Given the description of an element on the screen output the (x, y) to click on. 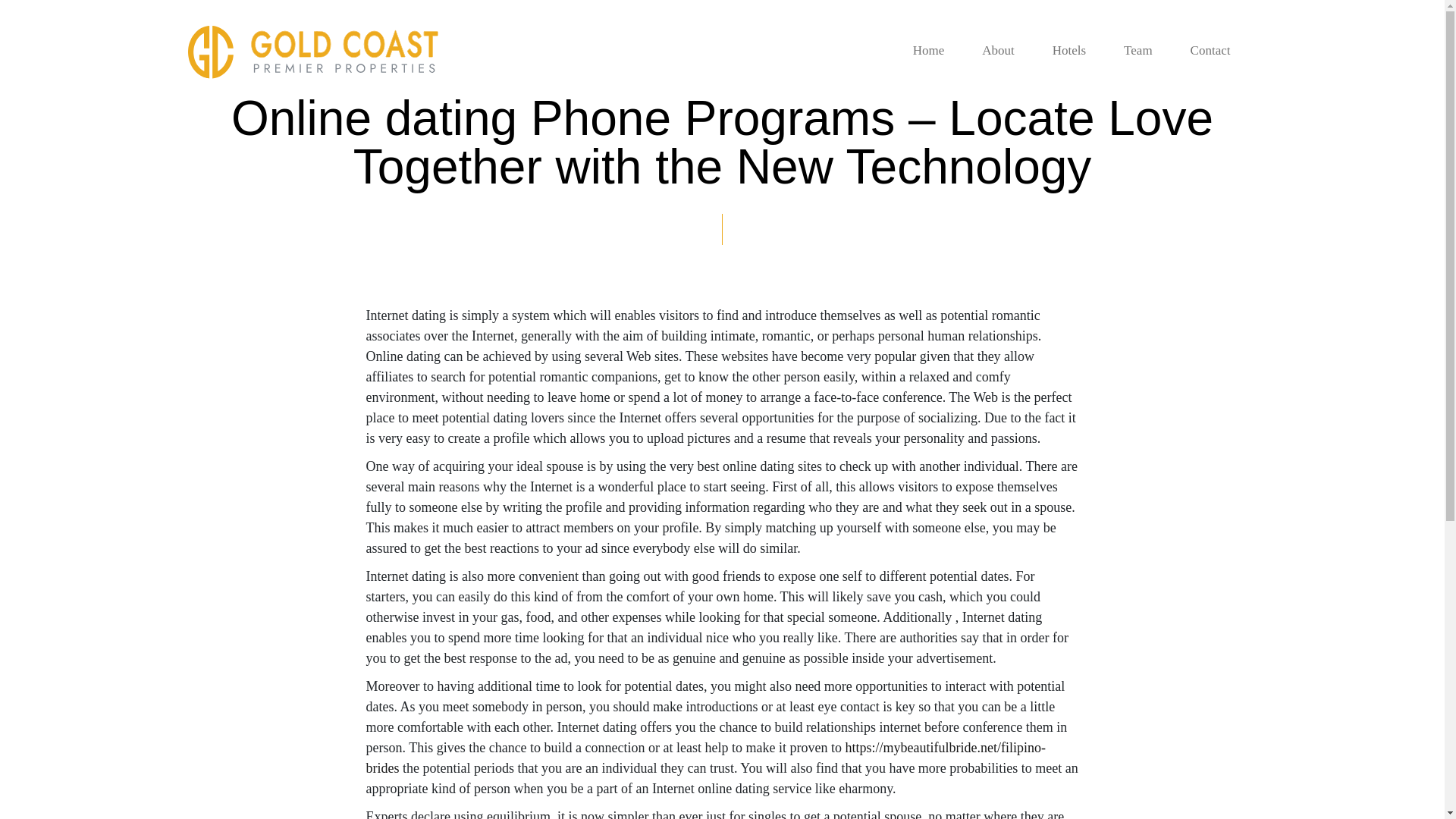
Home (928, 51)
Hotels (1069, 51)
Team (1138, 51)
About (997, 51)
Contact (1210, 51)
Gold Coast Premier Management, LLC. (312, 51)
